Given the description of an element on the screen output the (x, y) to click on. 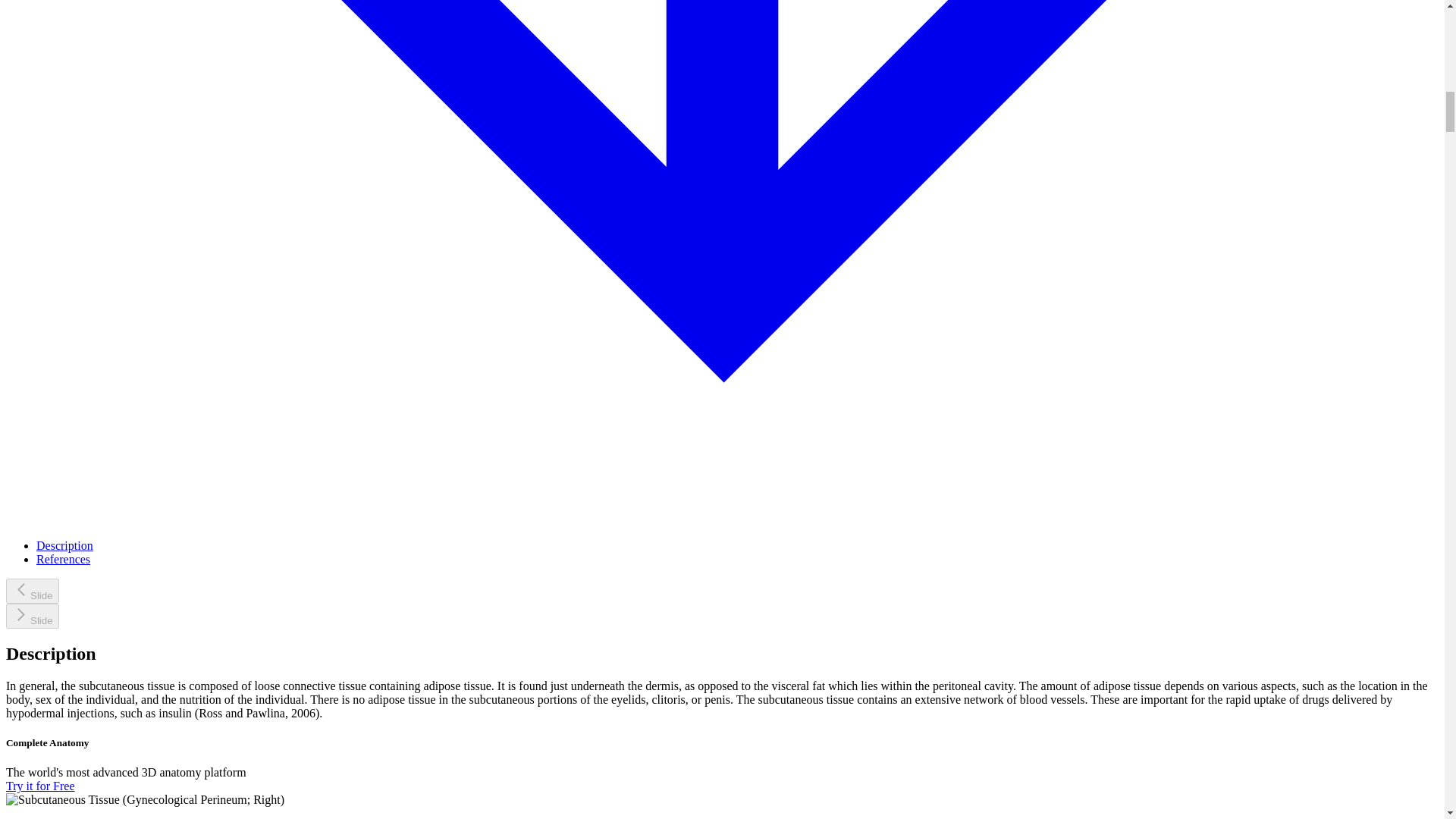
Slide (32, 590)
References (63, 558)
Description (64, 545)
Slide (32, 615)
